Given the description of an element on the screen output the (x, y) to click on. 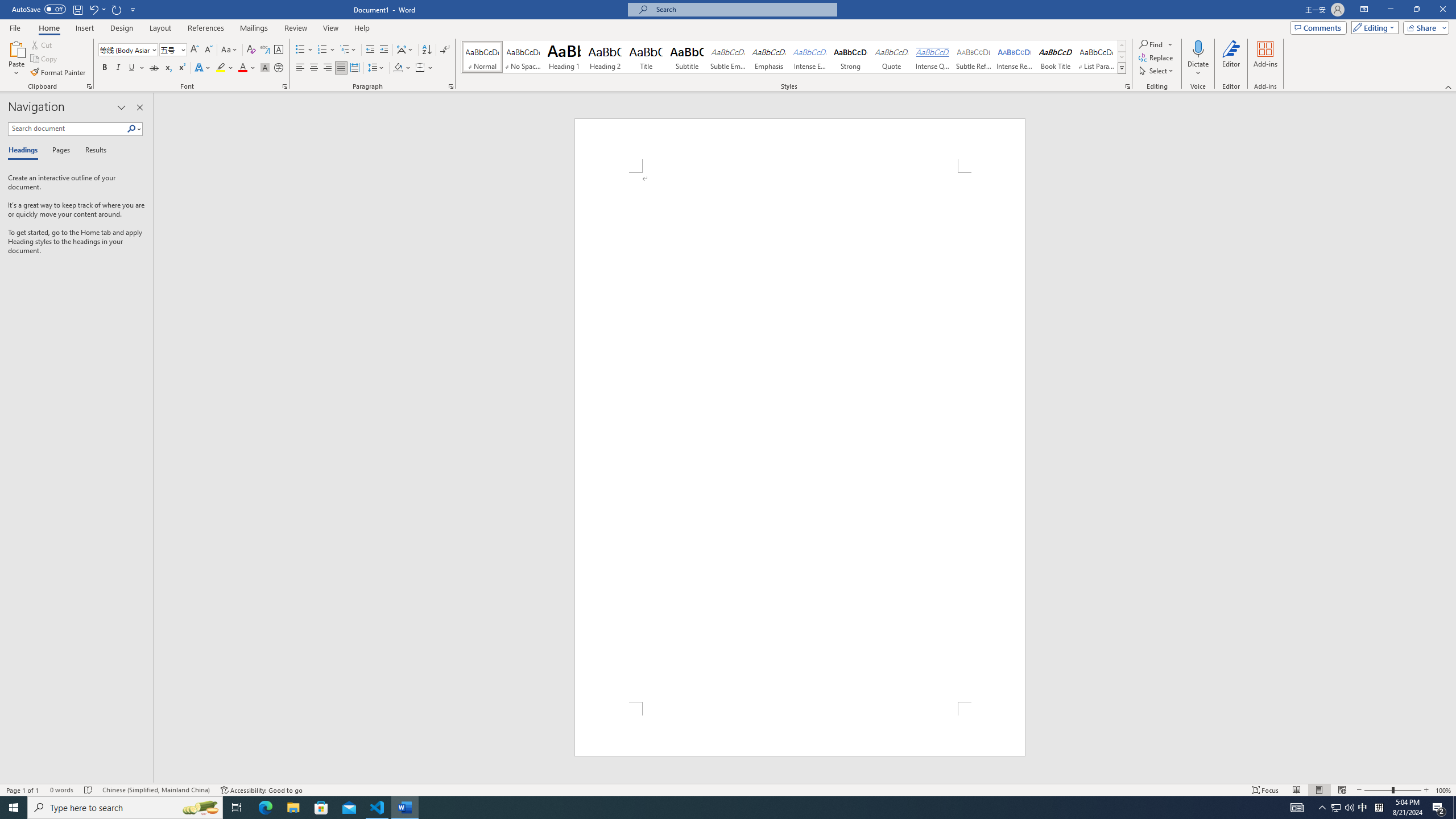
Subtle Reference (973, 56)
Heading 1 (564, 56)
Subtitle (686, 56)
